Given the description of an element on the screen output the (x, y) to click on. 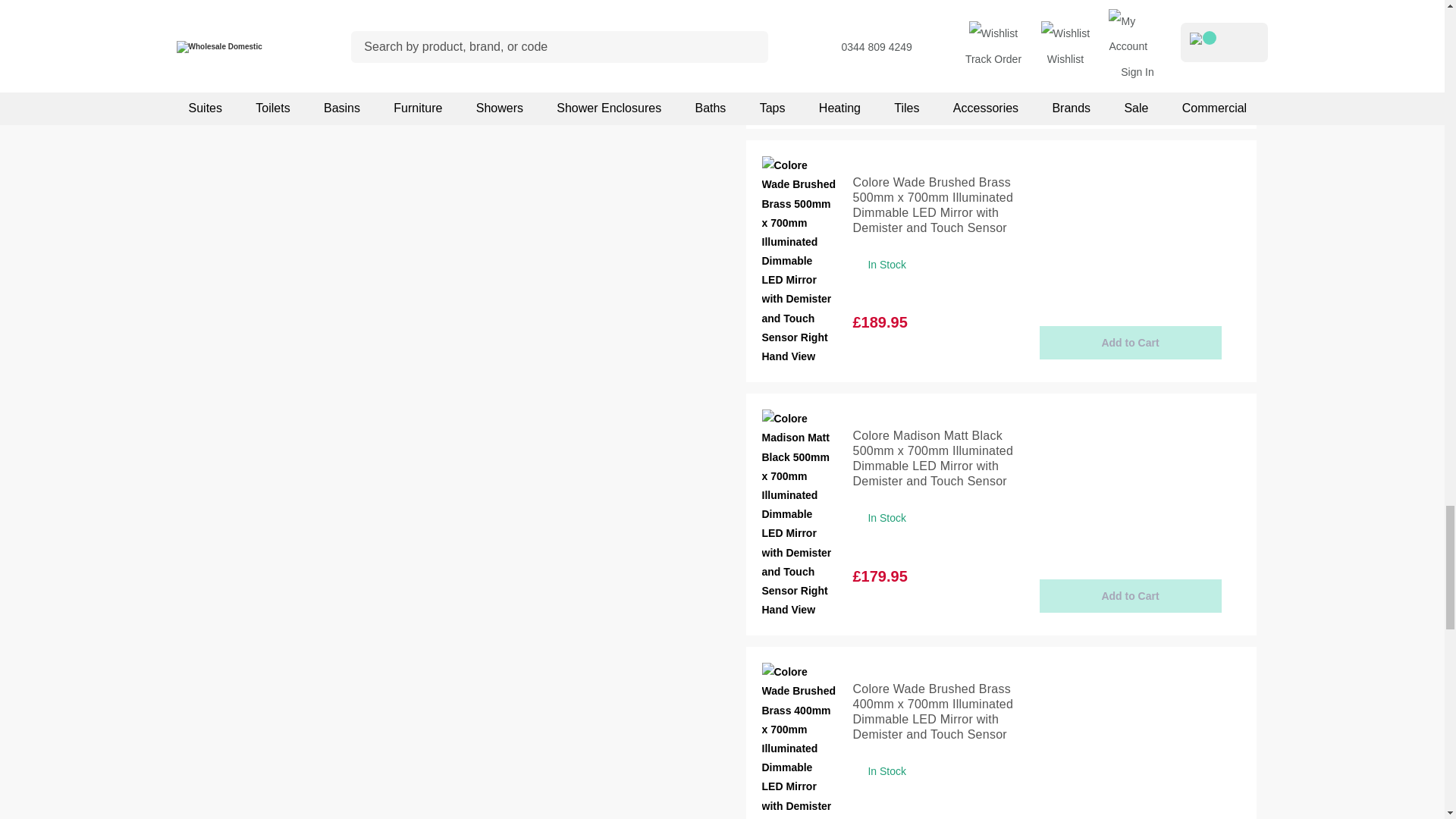
Add to Cart (1130, 595)
Add to Cart (1130, 89)
Add to Cart (1130, 342)
